Given the description of an element on the screen output the (x, y) to click on. 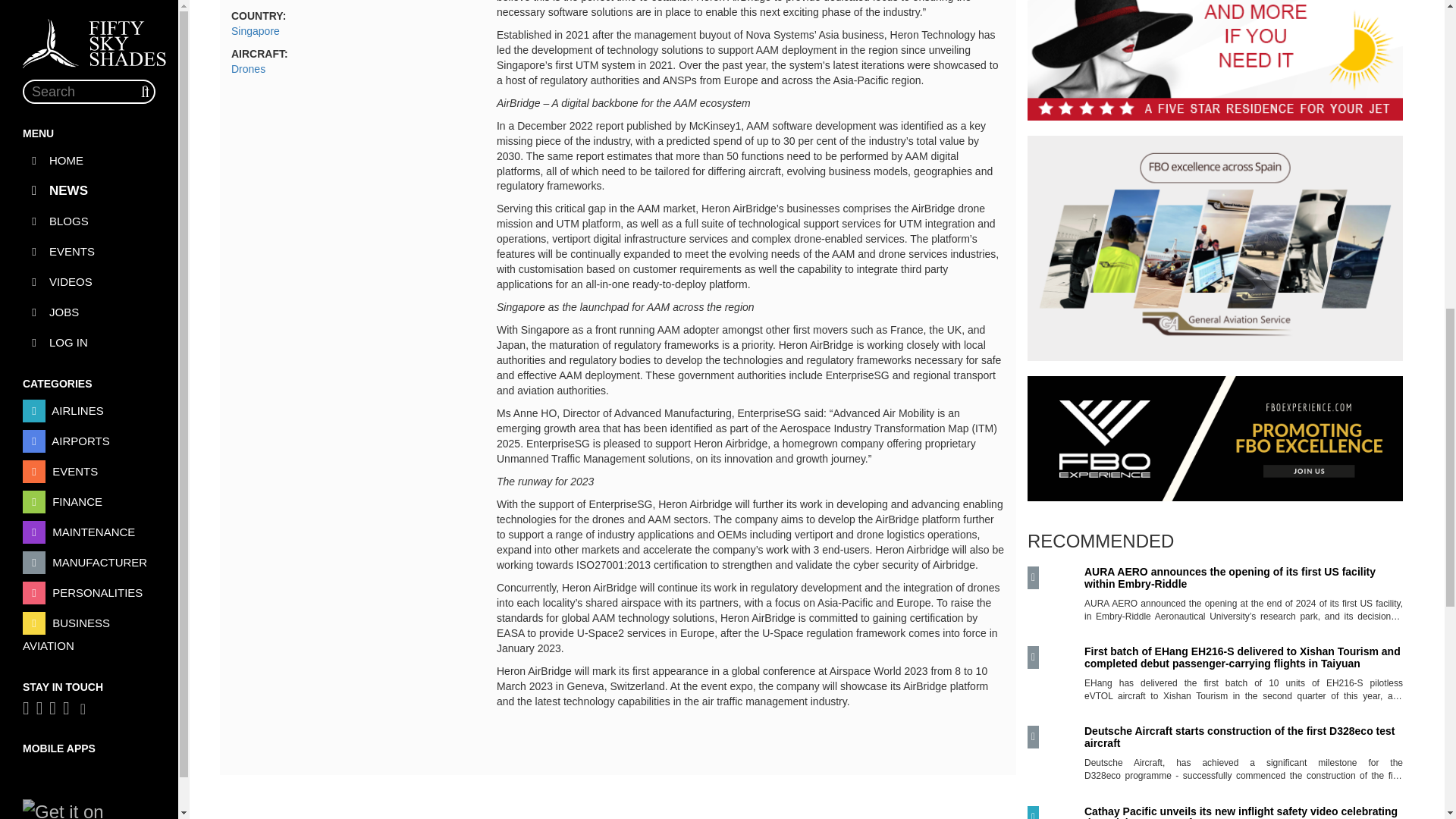
Singapore (255, 30)
Drones (247, 69)
